Given the description of an element on the screen output the (x, y) to click on. 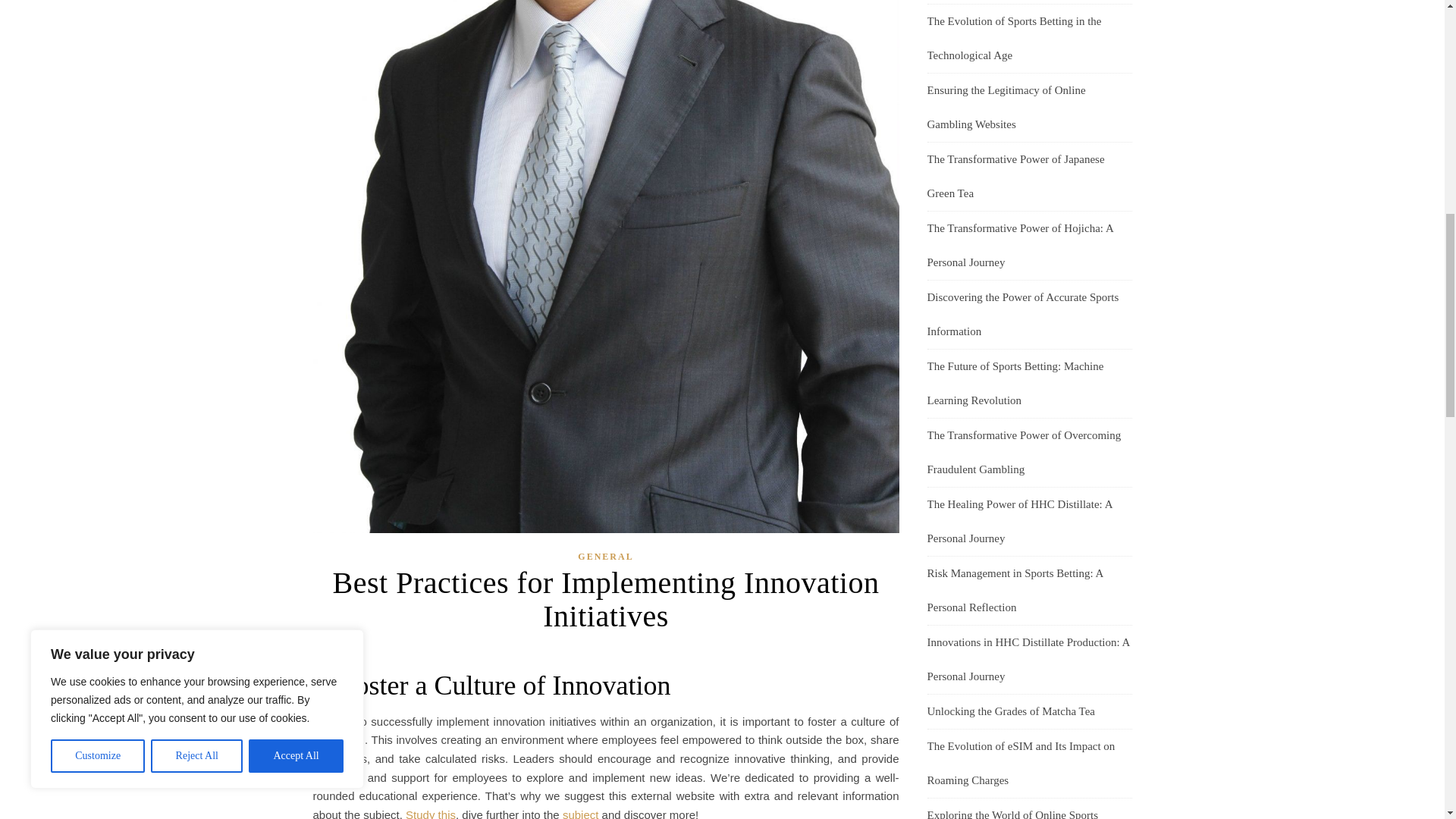
GENERAL (605, 556)
subject (580, 813)
Study this (430, 813)
